Given the description of an element on the screen output the (x, y) to click on. 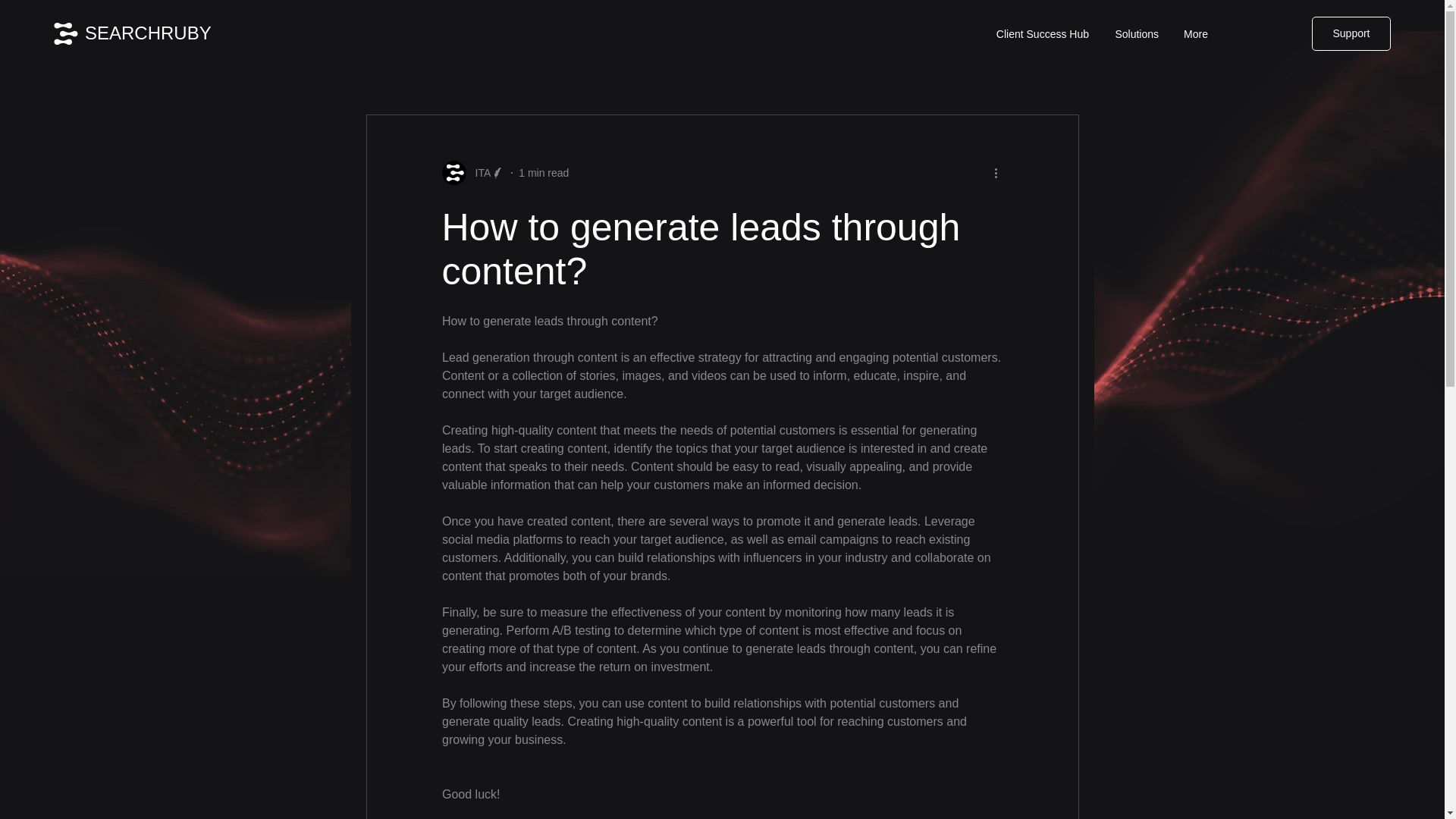
SEARCHRUBY (147, 32)
1 min read (543, 173)
Client Success Hub (1039, 34)
Solutions (1135, 34)
ITA (477, 172)
Support (1350, 33)
